Given the description of an element on the screen output the (x, y) to click on. 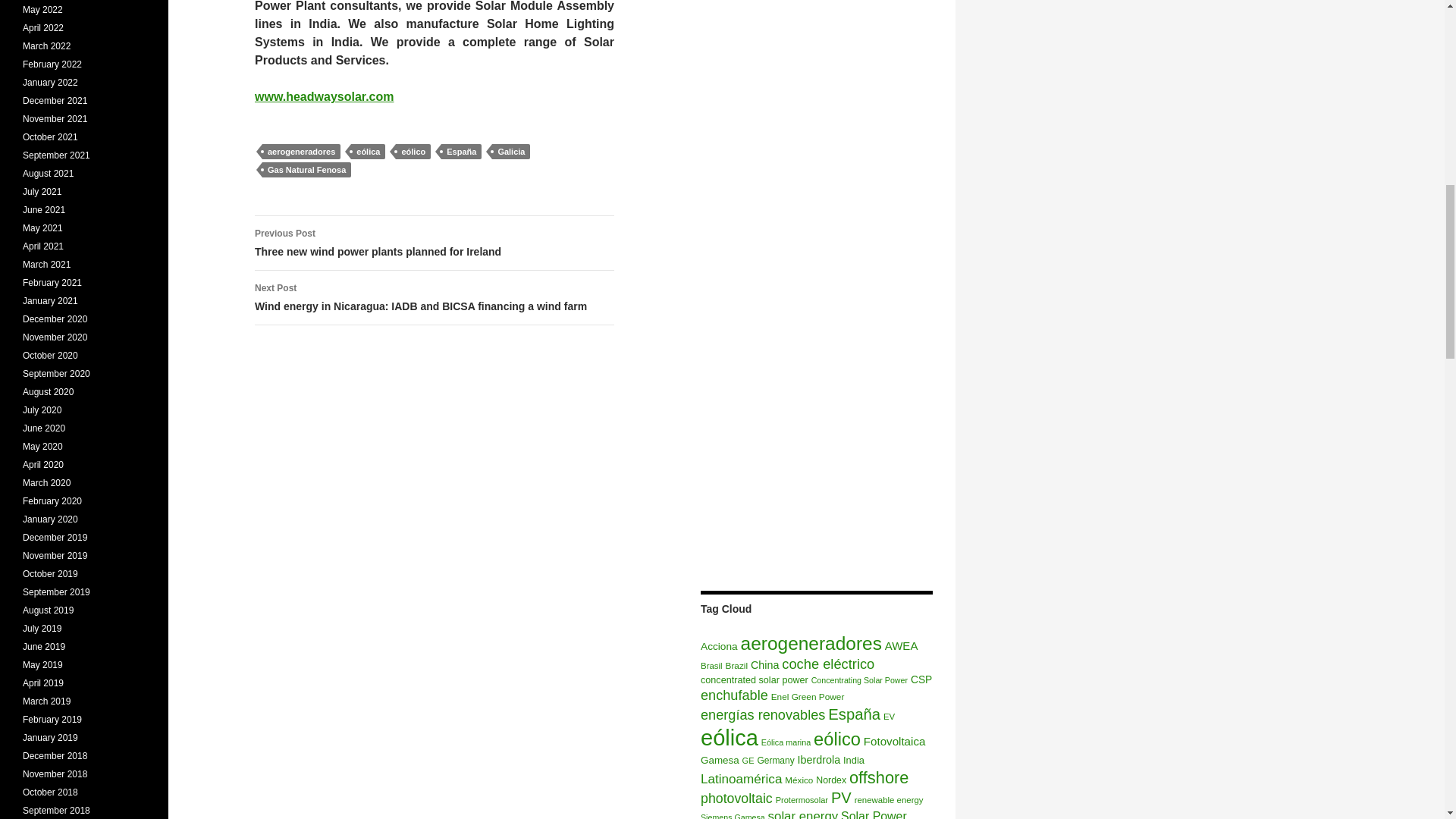
aerogeneradores (301, 151)
www.headwaysolar.com (323, 96)
Acciona (719, 645)
AWEA (901, 645)
Brasil (711, 665)
Gas Natural Fenosa (306, 169)
aerogeneradores (811, 643)
Galicia (510, 151)
